Given the description of an element on the screen output the (x, y) to click on. 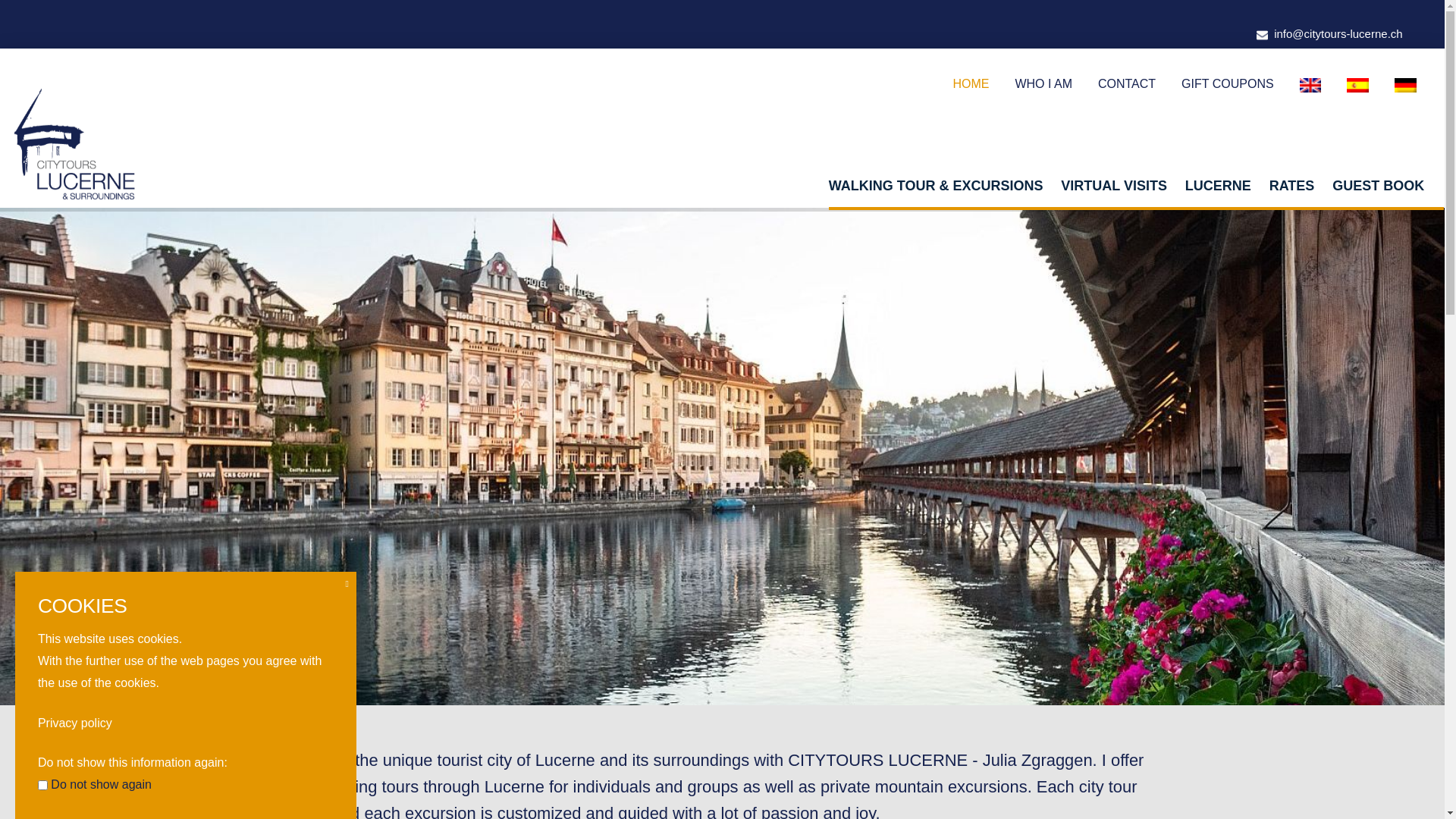
HOME Element type: text (970, 84)
WALKING TOUR & EXCURSIONS Element type: text (938, 186)
WHO I AM Element type: text (1043, 84)
RATES Element type: text (1293, 186)
LUCERNE Element type: text (1220, 186)
VIRTUAL VISITS Element type: text (1116, 186)
Privacy policy Element type: text (74, 722)
GIFT COUPONS Element type: text (1227, 84)
Close the Content Dock Element type: text (346, 583)
GUEST BOOK Element type: text (1380, 186)
 info@citytours-lucerne.ch Element type: text (1336, 33)
CONTACT Element type: text (1126, 84)
